Given the description of an element on the screen output the (x, y) to click on. 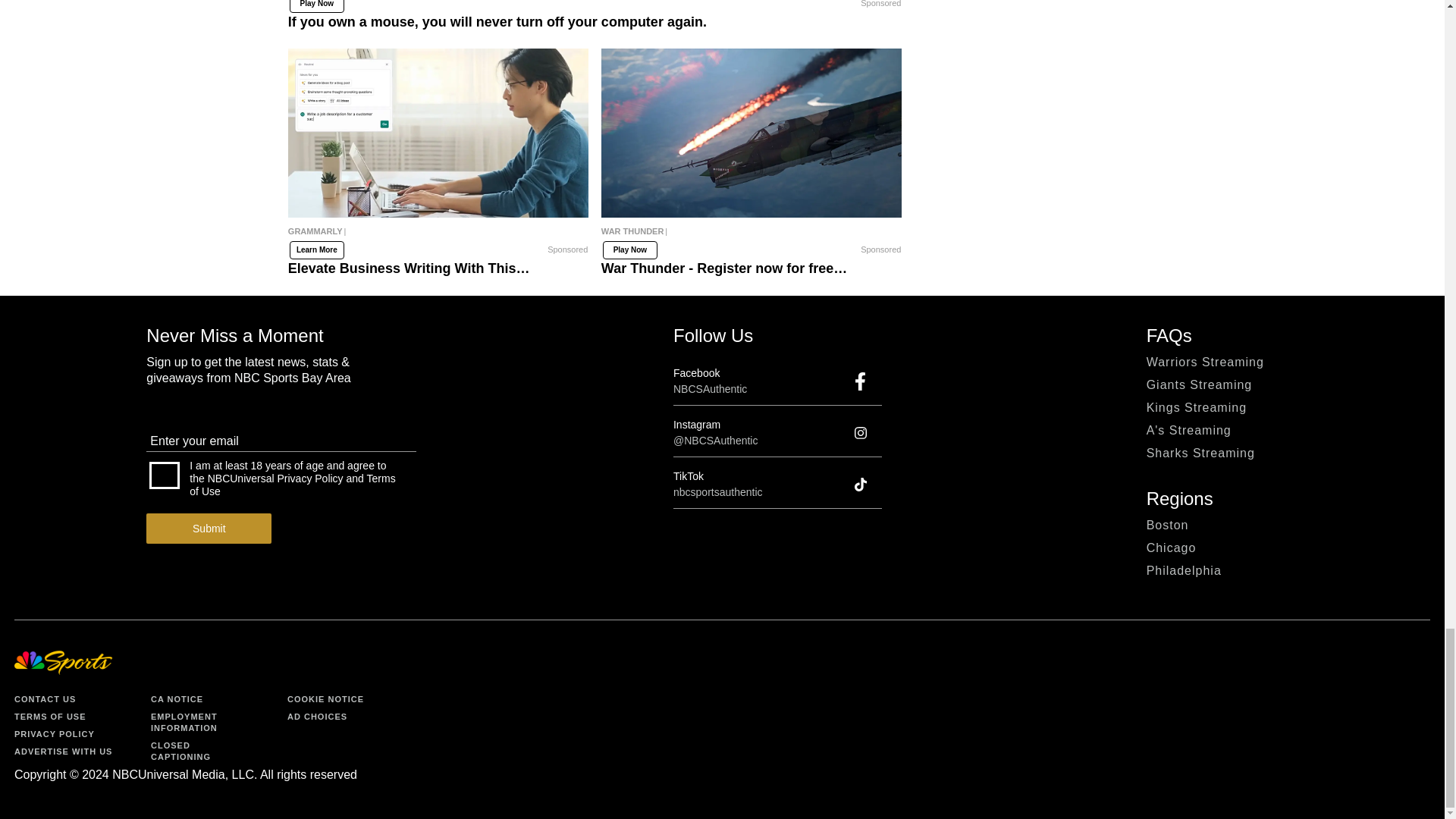
Elevate Business Writing With This Desktop App (438, 132)
on (164, 474)
Elevate Business Writing With This Desktop App (438, 237)
